Given the description of an element on the screen output the (x, y) to click on. 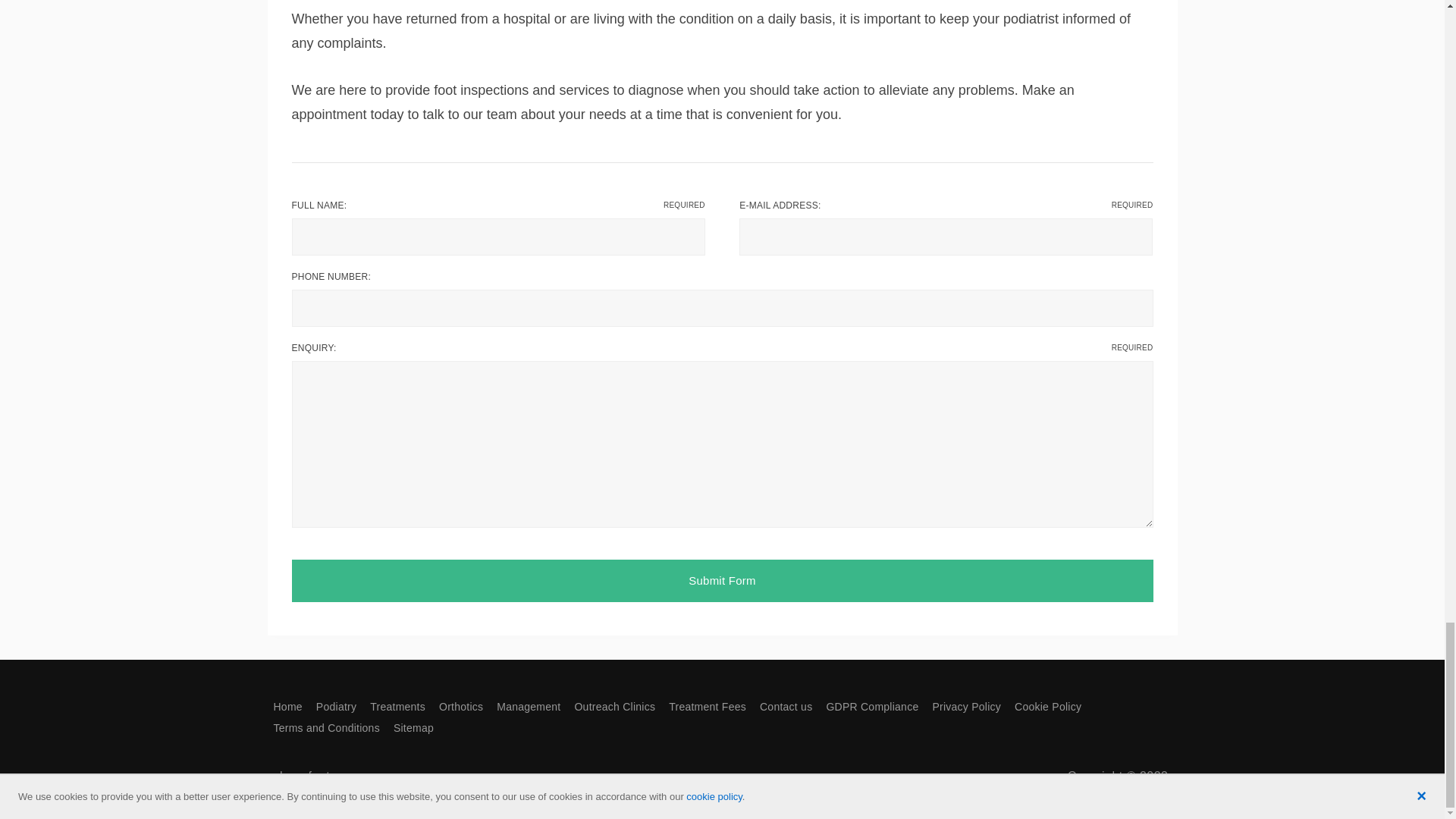
Cookie Policy (1047, 706)
Privacy Policy (966, 706)
Treatment Fees (706, 706)
Podiatry (335, 706)
Contact us (786, 706)
Terms and Conditions (325, 727)
GDPR Compliance (871, 706)
Home (287, 706)
Sitemap (413, 727)
Outreach Clinics (614, 706)
